Given the description of an element on the screen output the (x, y) to click on. 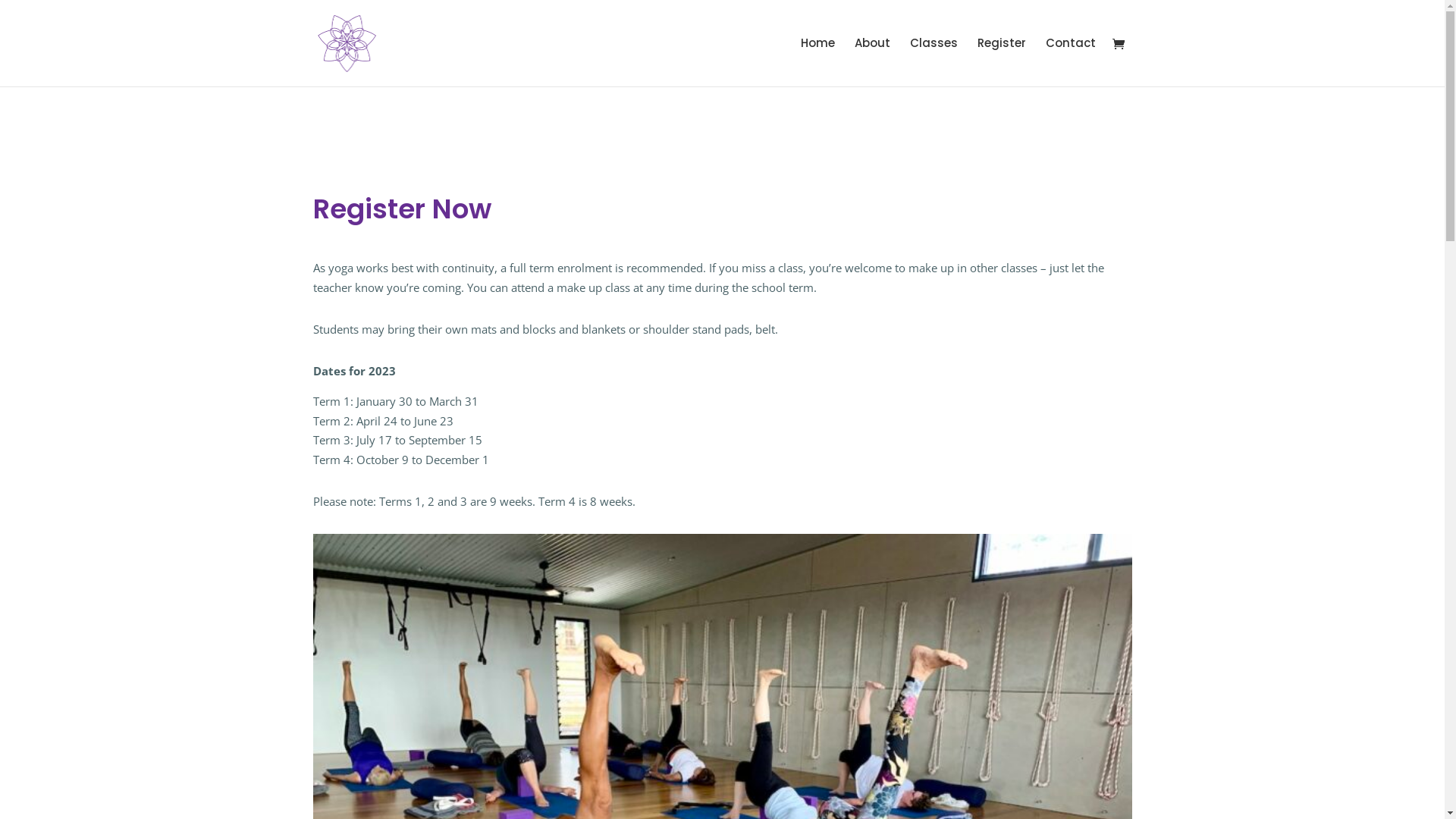
Classes Element type: text (933, 61)
Register Element type: text (1000, 61)
Home Element type: text (817, 61)
About Element type: text (871, 61)
Contact Element type: text (1069, 61)
